Given the description of an element on the screen output the (x, y) to click on. 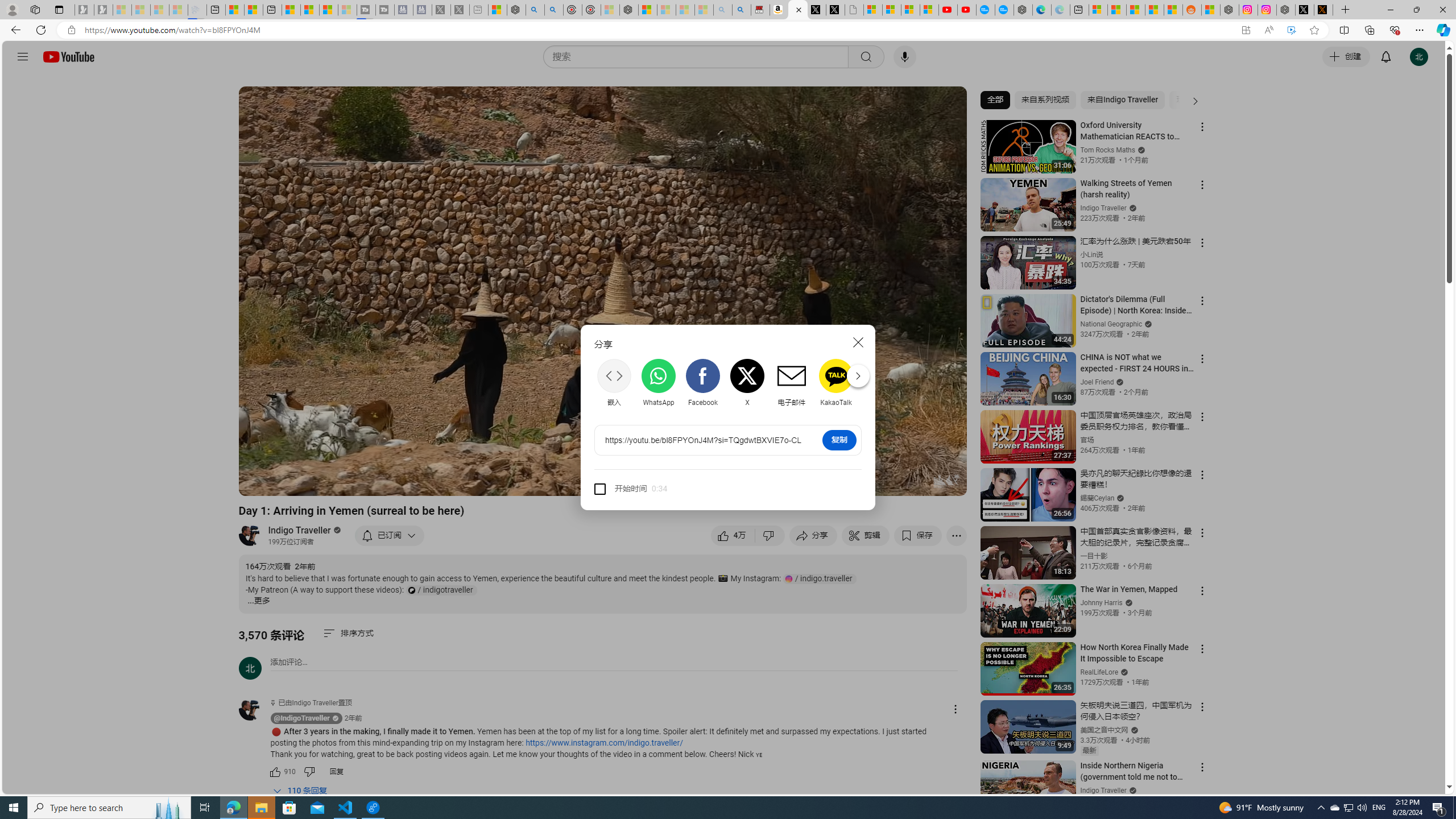
App available. Install YouTube (1245, 29)
@IndigoTraveller (301, 718)
Newsletter Sign Up - Sleeping (102, 9)
poe ++ standard - Search (553, 9)
